Given the description of an element on the screen output the (x, y) to click on. 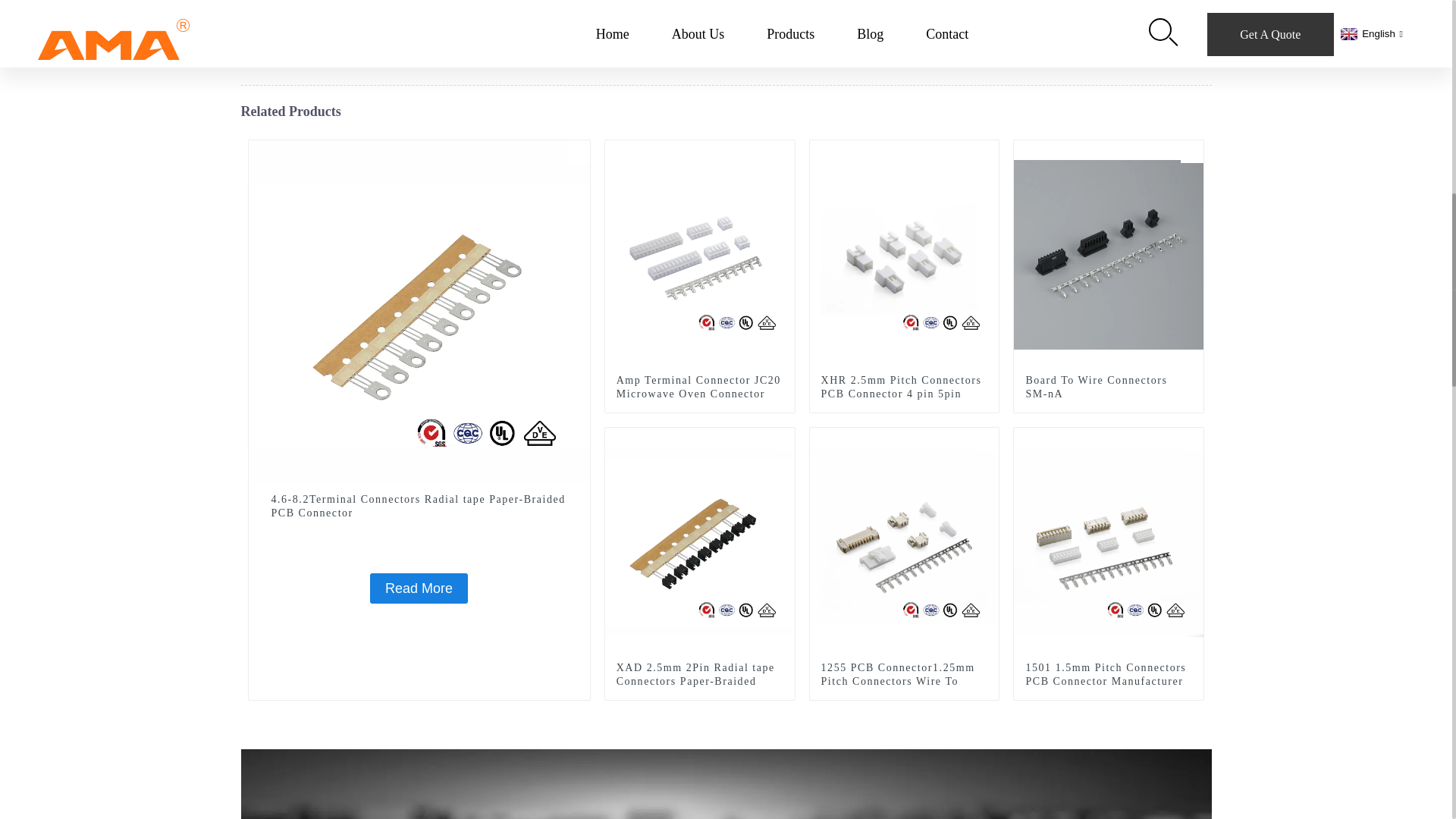
JC20 (782, 151)
XHR 2.5mm Pitch Connectors PCB Connector 4 pin 5pin (904, 387)
Board To Wire Connectors SM-nA (1108, 253)
Board To Wire Connectors SM-nA (1192, 151)
1255 PCB Connector1.25mm Pitch (986, 438)
XHR 2.5mm Pitch Connectors (986, 151)
